Given the description of an element on the screen output the (x, y) to click on. 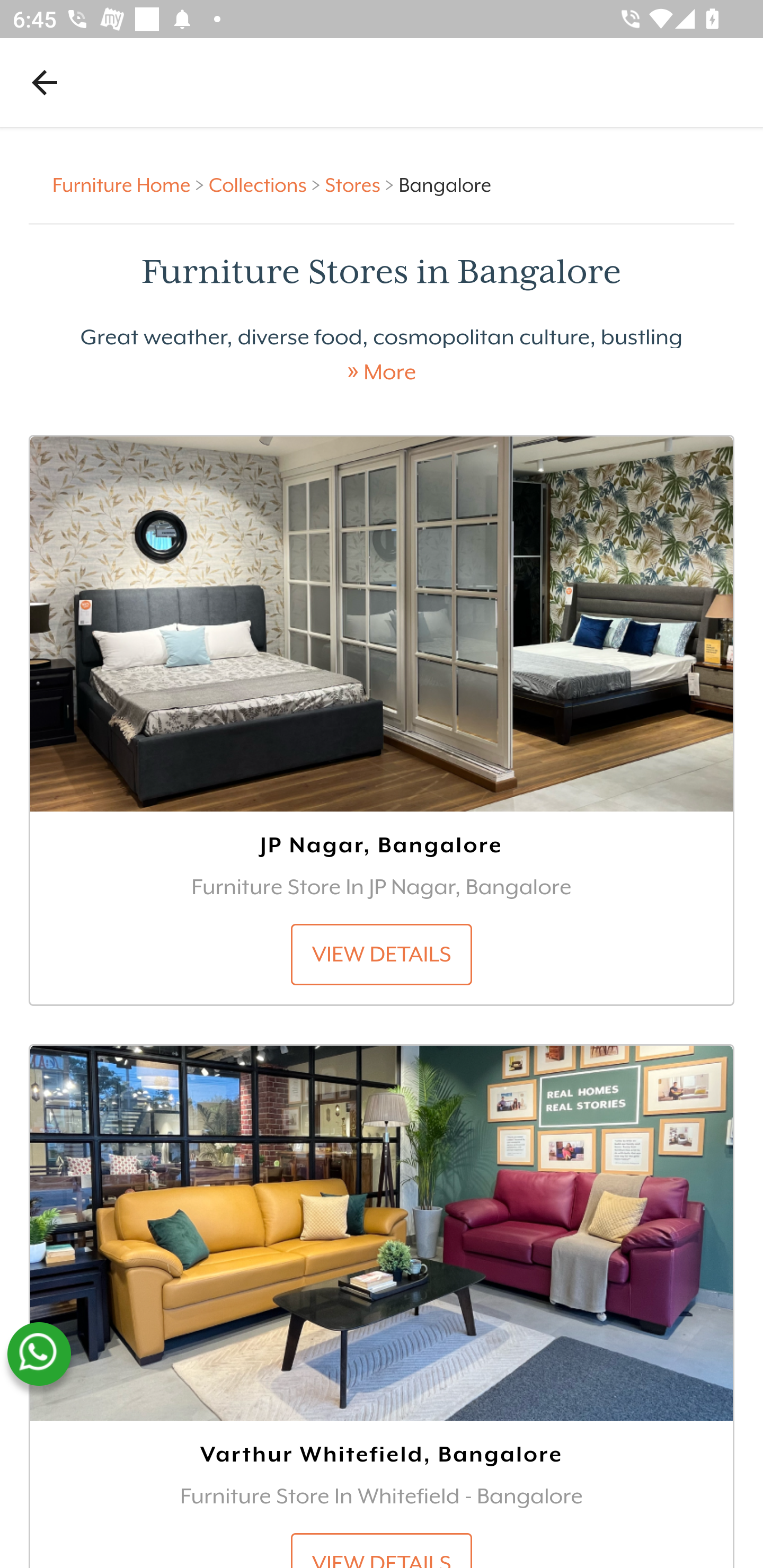
Navigate up (44, 82)
Furniture Home >  Furniture Home  >  (130, 184)
Collections >  Collections  >  (266, 184)
Stores >  Stores  >  (361, 184)
» More (381, 372)
VIEW DETAILS (381, 953)
whatsapp (38, 1353)
